Given the description of an element on the screen output the (x, y) to click on. 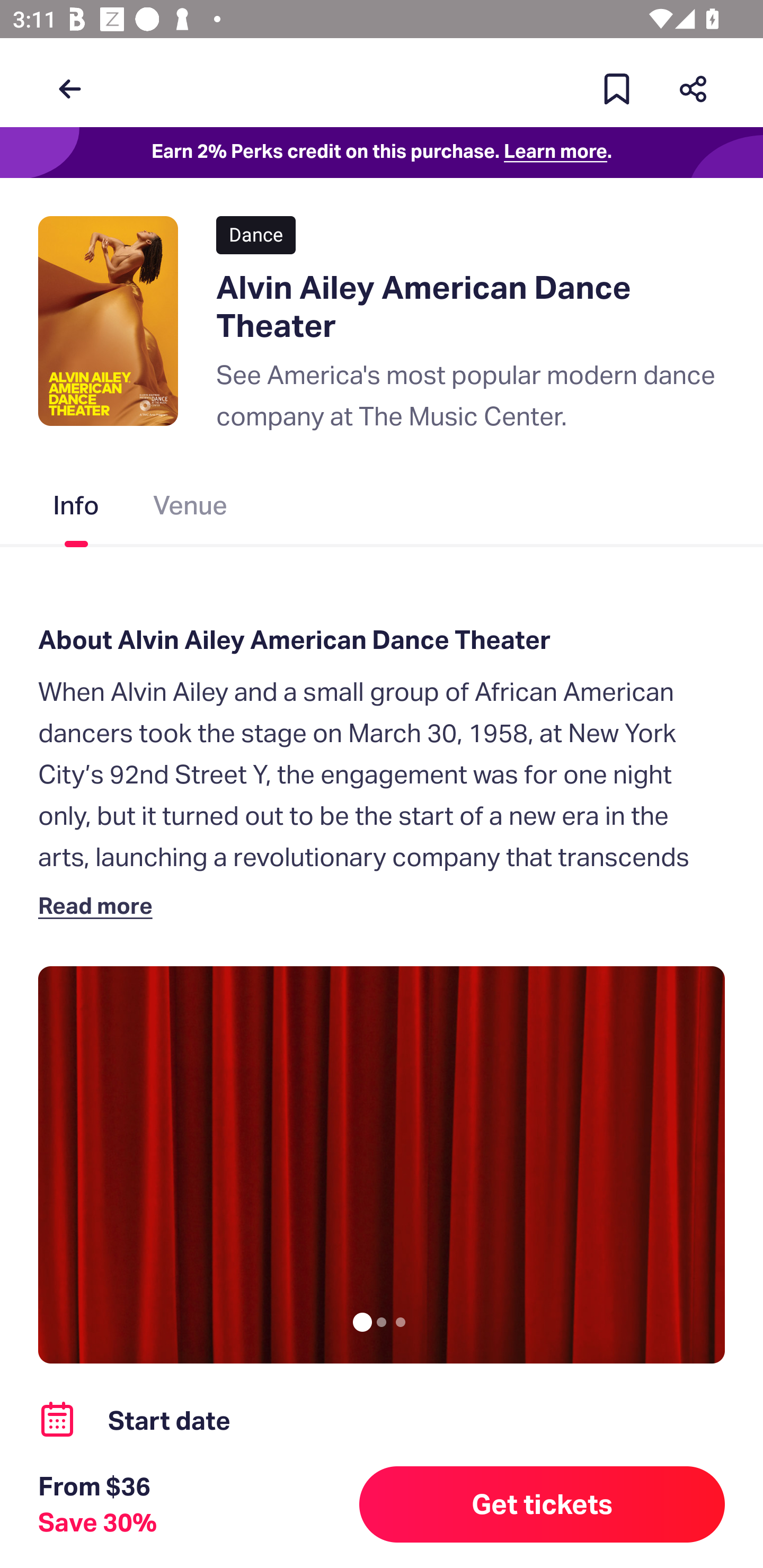
Earn 2% Perks credit on this purchase. Learn more. (381, 152)
Venue (190, 508)
About Alvin Ailey American Dance Theater (381, 640)
Read more (99, 904)
Get tickets (541, 1504)
